Given the description of an element on the screen output the (x, y) to click on. 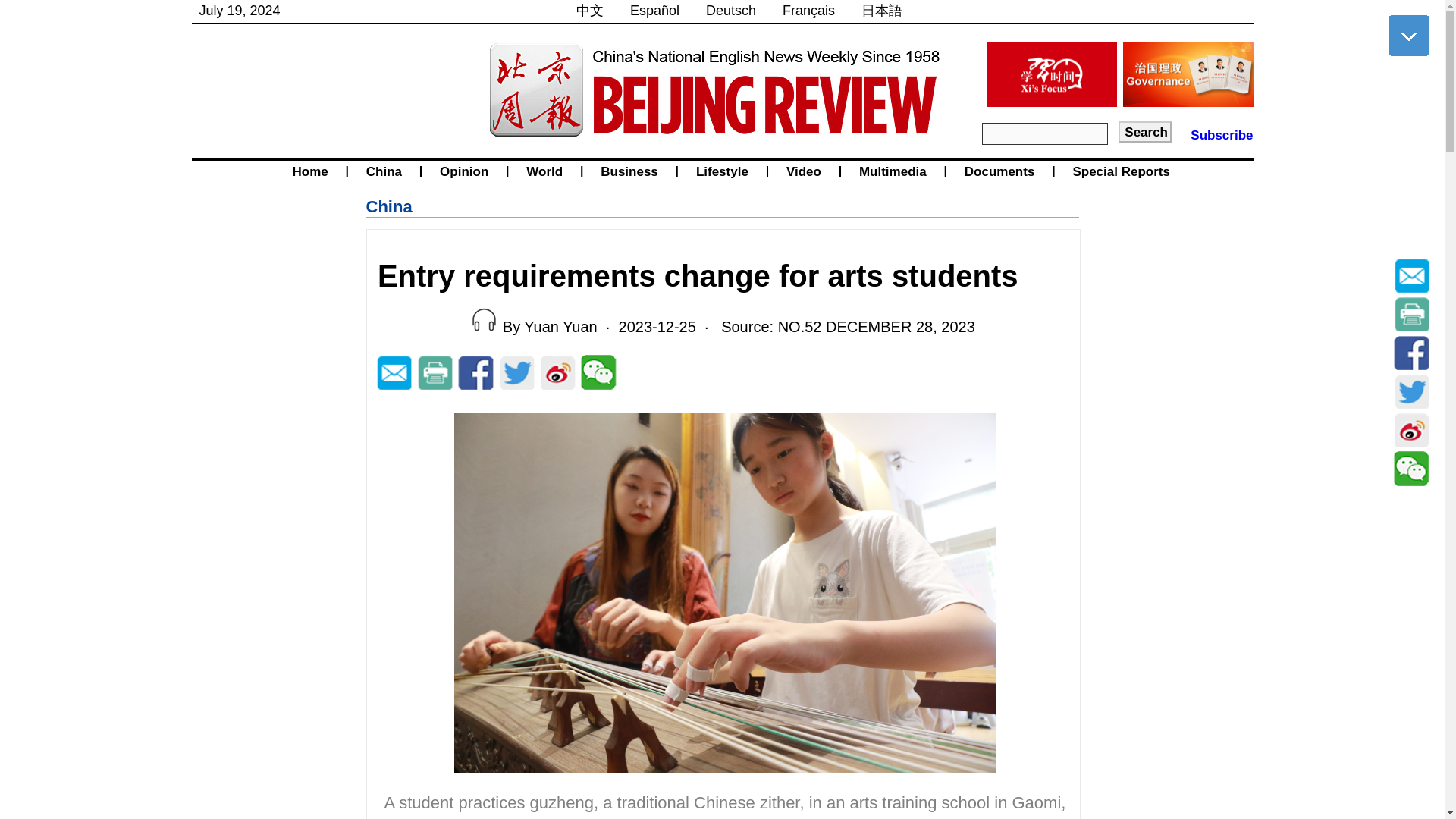
World (544, 171)
Search (1145, 131)
Lifestyle (722, 171)
China (384, 171)
Subscribe (1221, 134)
Search (1145, 131)
Opinion (463, 171)
Home (309, 171)
China (388, 206)
Deutsch (730, 10)
Business (629, 171)
Video (804, 171)
